Given the description of an element on the screen output the (x, y) to click on. 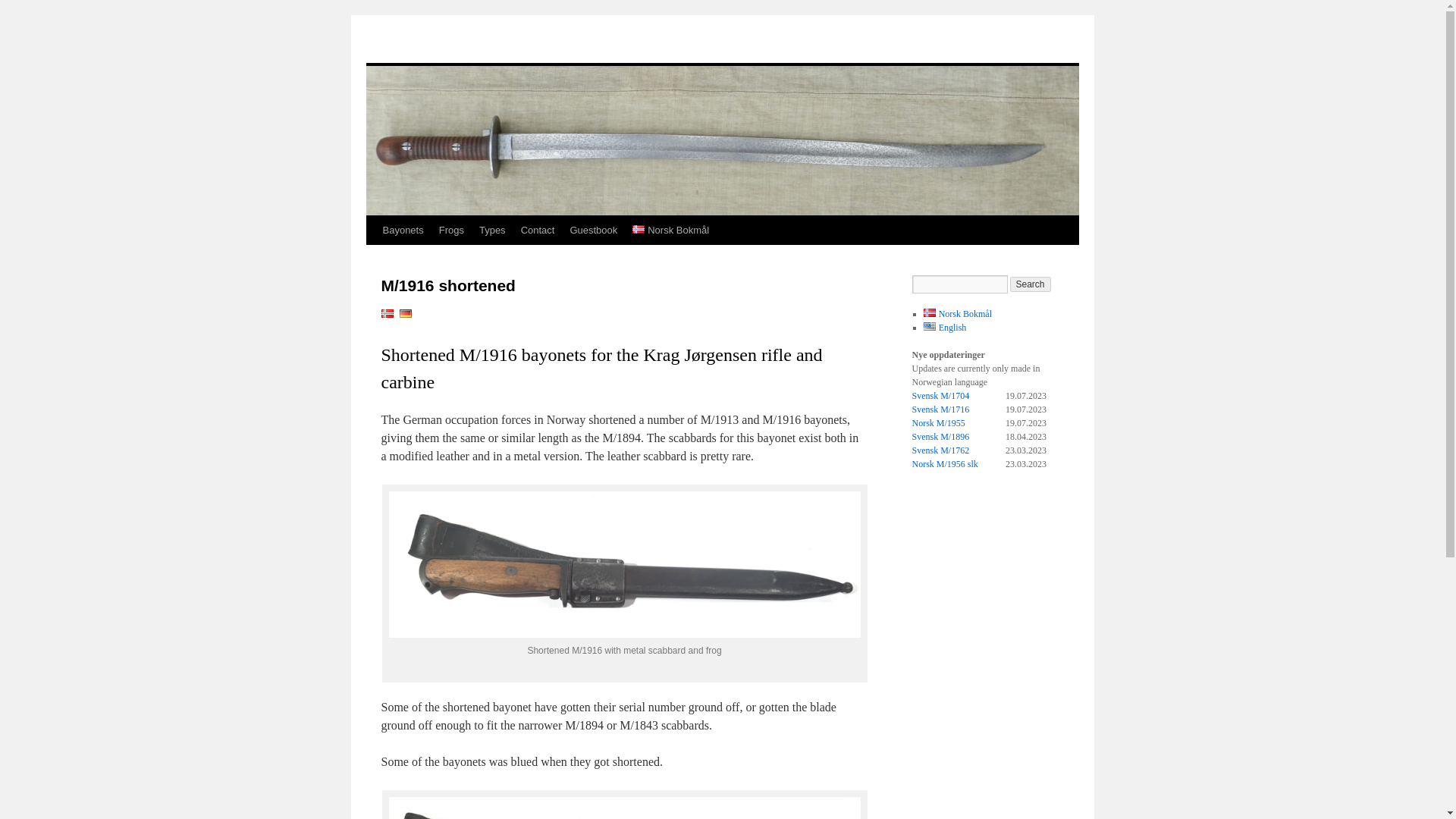
Types (492, 230)
Bayonets (402, 230)
Search (1030, 283)
Frogs (450, 230)
Guestbook (593, 230)
English (944, 327)
Contact (537, 230)
Search (1030, 283)
